Given the description of an element on the screen output the (x, y) to click on. 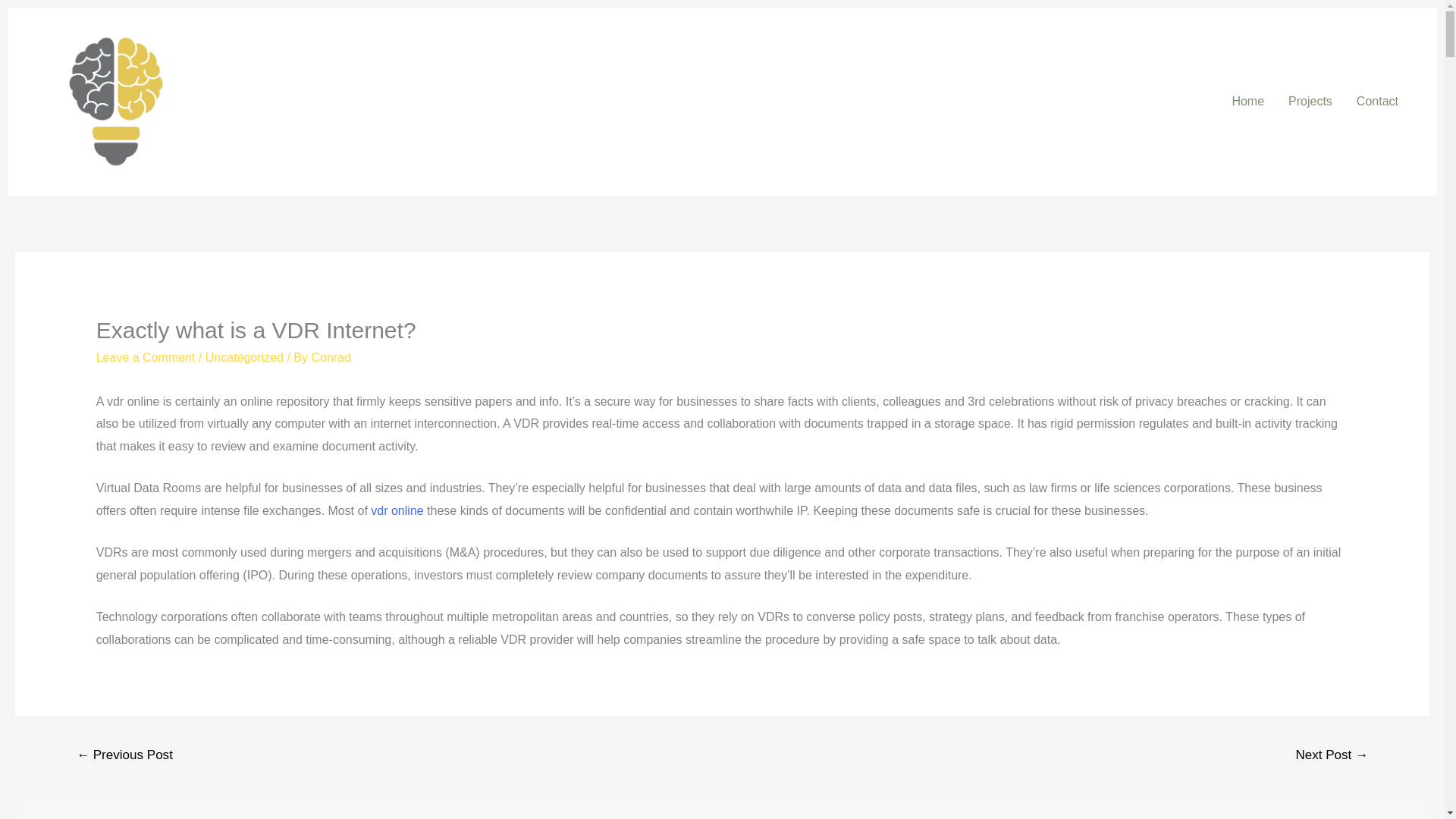
Leave a Comment (145, 357)
vdr online (397, 510)
View all posts by Conrad (330, 357)
Projects (1309, 101)
Home (1248, 101)
Uncategorized (244, 357)
Conrad (330, 357)
Contact (1376, 101)
